Given the description of an element on the screen output the (x, y) to click on. 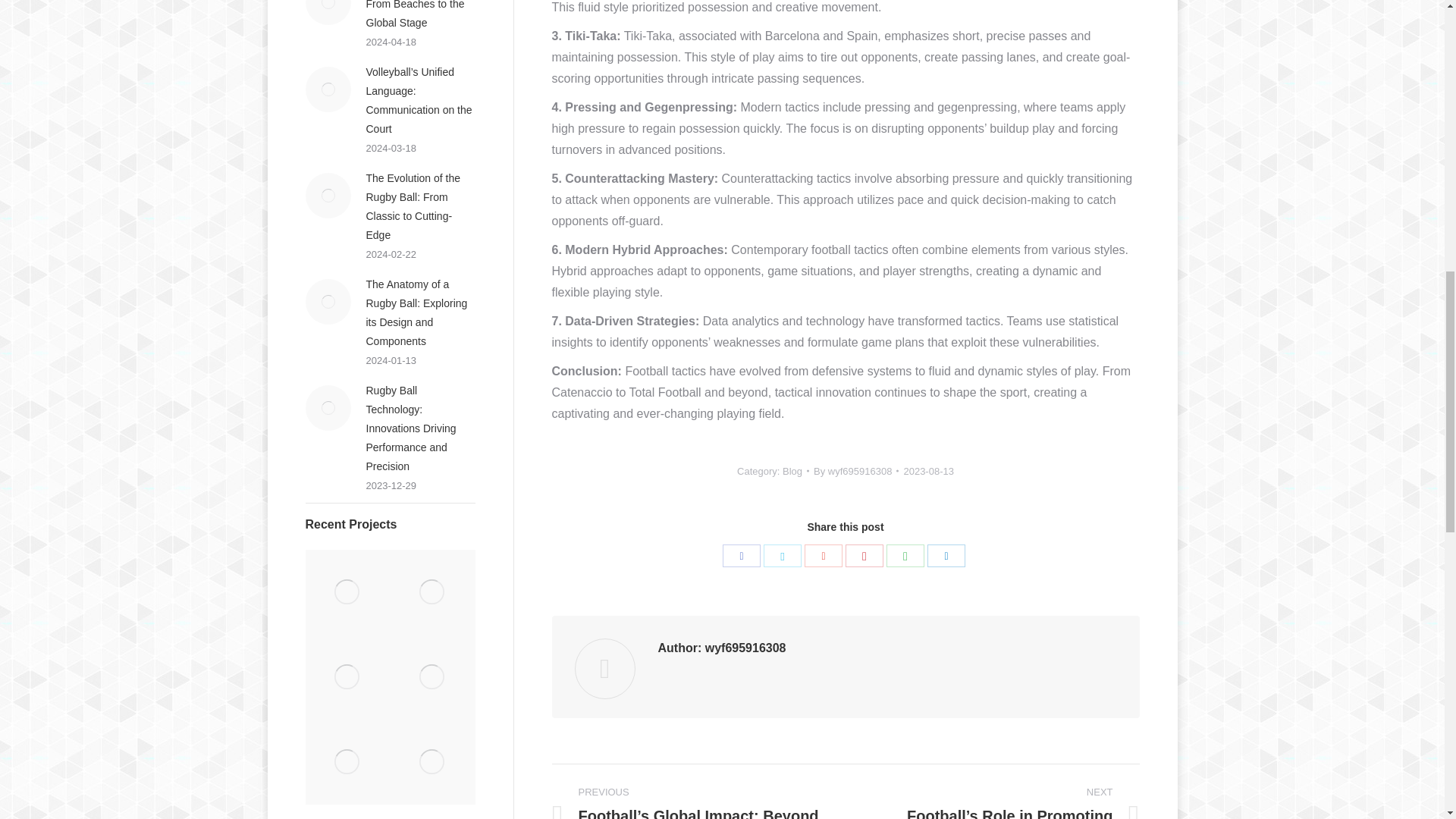
Size 9.25 Inches With Sure Waterproof Football (347, 591)
Twitter (782, 555)
WhatsApp (905, 555)
Pinterest (864, 555)
13:14 (927, 470)
Waterproof Outdoor Sports Football For Adult (432, 591)
View all posts by wyf695916308 (855, 470)
LinkedIn (946, 555)
Facebook (741, 555)
